Given the description of an element on the screen output the (x, y) to click on. 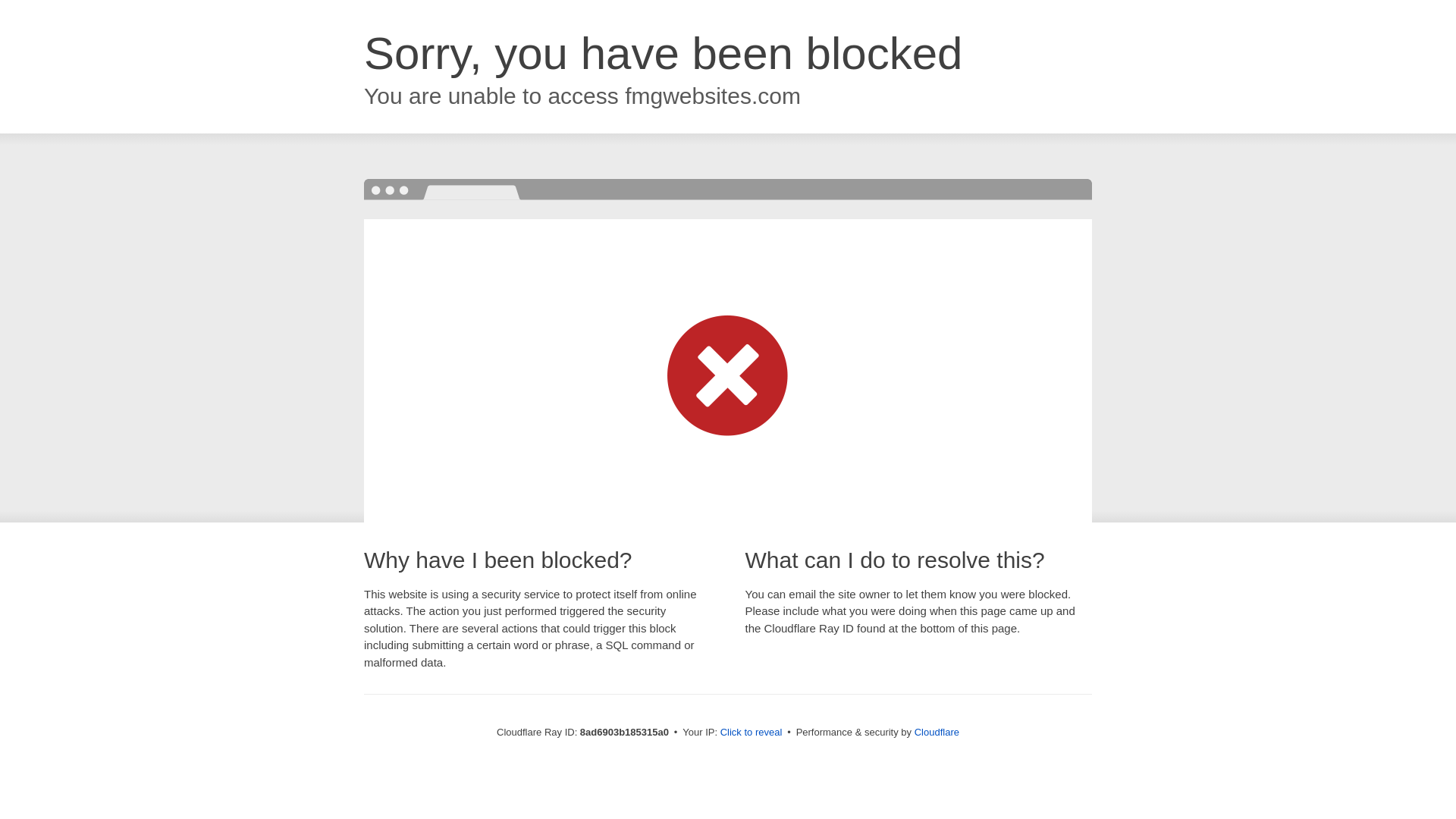
Click to reveal (751, 732)
Cloudflare (936, 731)
